Given the description of an element on the screen output the (x, y) to click on. 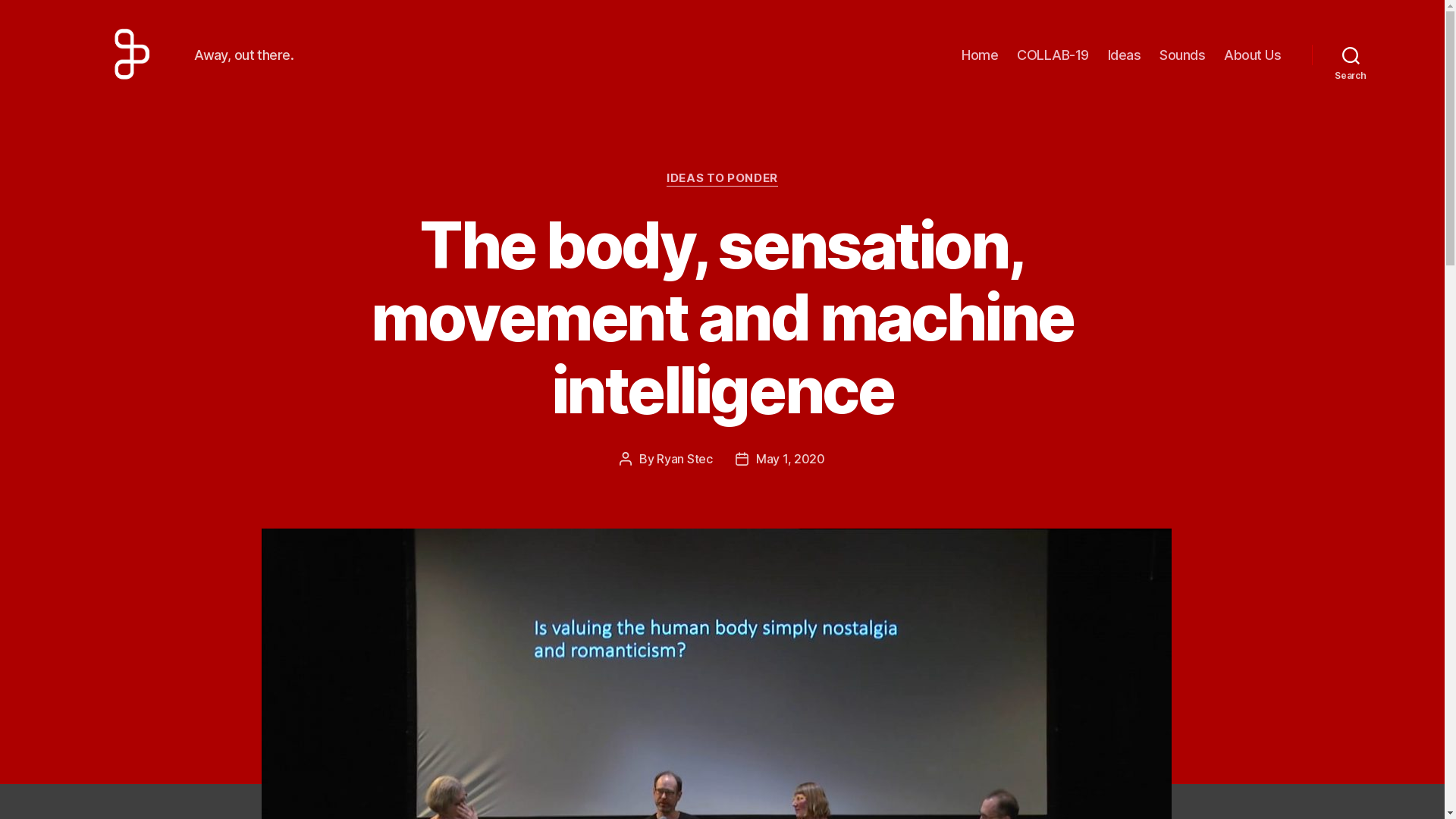
Search Element type: text (1350, 55)
Sounds Element type: text (1181, 55)
Home Element type: text (979, 55)
IDEAS TO PONDER Element type: text (721, 178)
About Us Element type: text (1251, 55)
Ideas Element type: text (1124, 55)
May 1, 2020 Element type: text (790, 458)
COLLAB-19 Element type: text (1052, 55)
Ryan Stec Element type: text (684, 458)
